Given the description of an element on the screen output the (x, y) to click on. 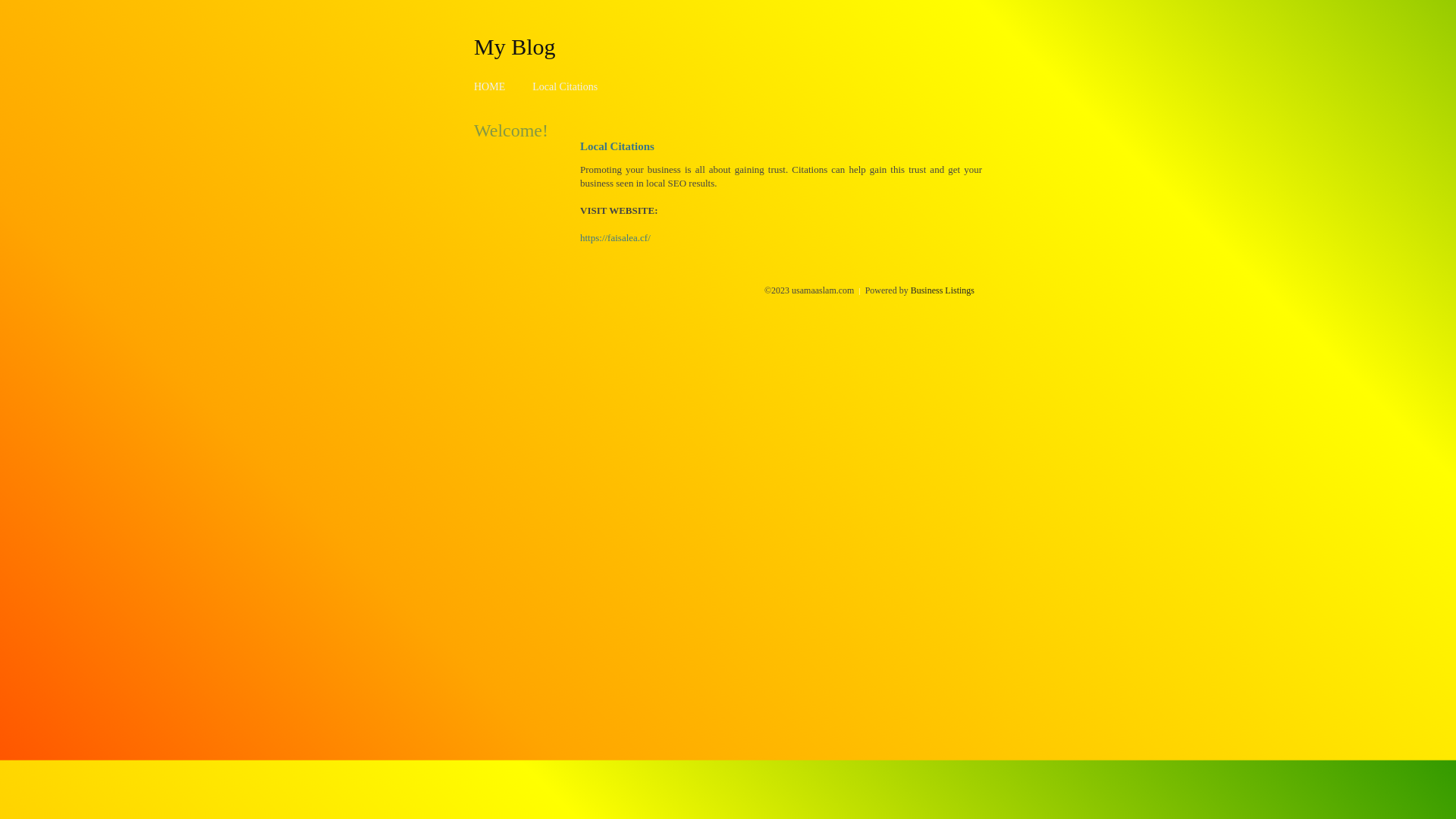
Business Listings Element type: text (942, 290)
https://faisalea.cf/ Element type: text (615, 237)
HOME Element type: text (489, 86)
Local Citations Element type: text (564, 86)
My Blog Element type: text (514, 46)
